Given the description of an element on the screen output the (x, y) to click on. 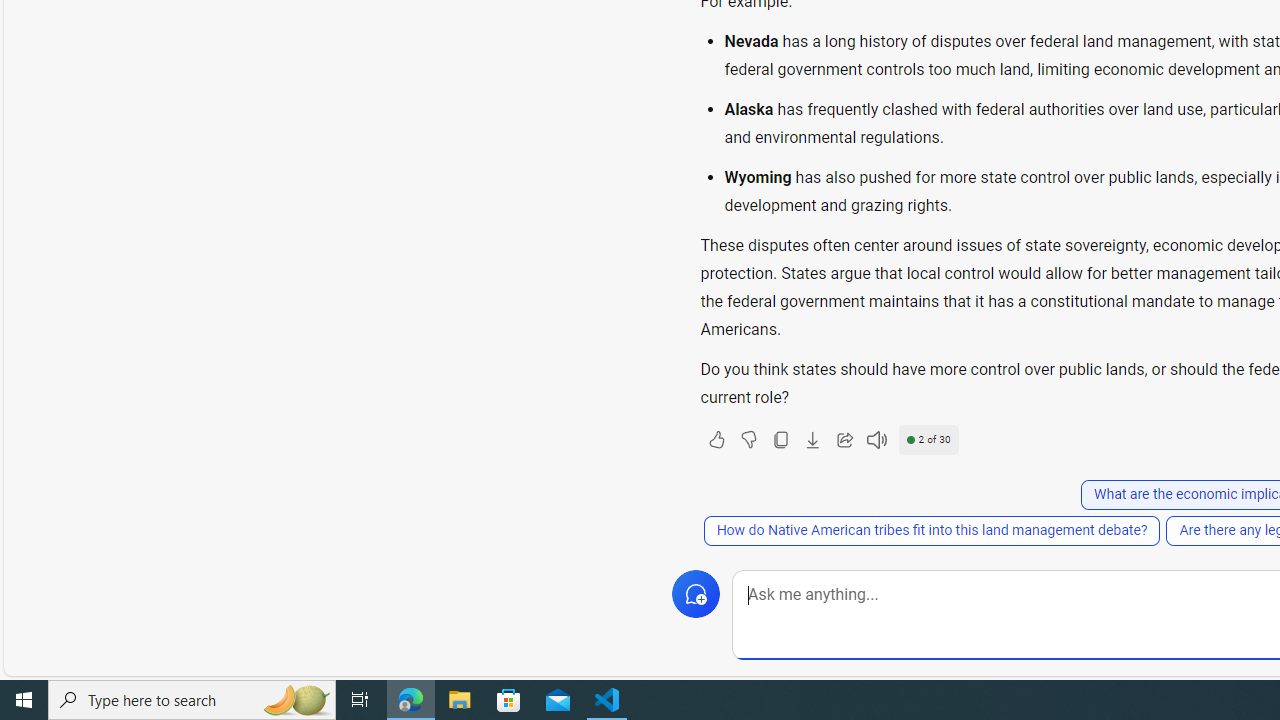
Read aloud (876, 439)
Copy (780, 439)
Share (844, 439)
Like (716, 439)
Export (812, 439)
